Given the description of an element on the screen output the (x, y) to click on. 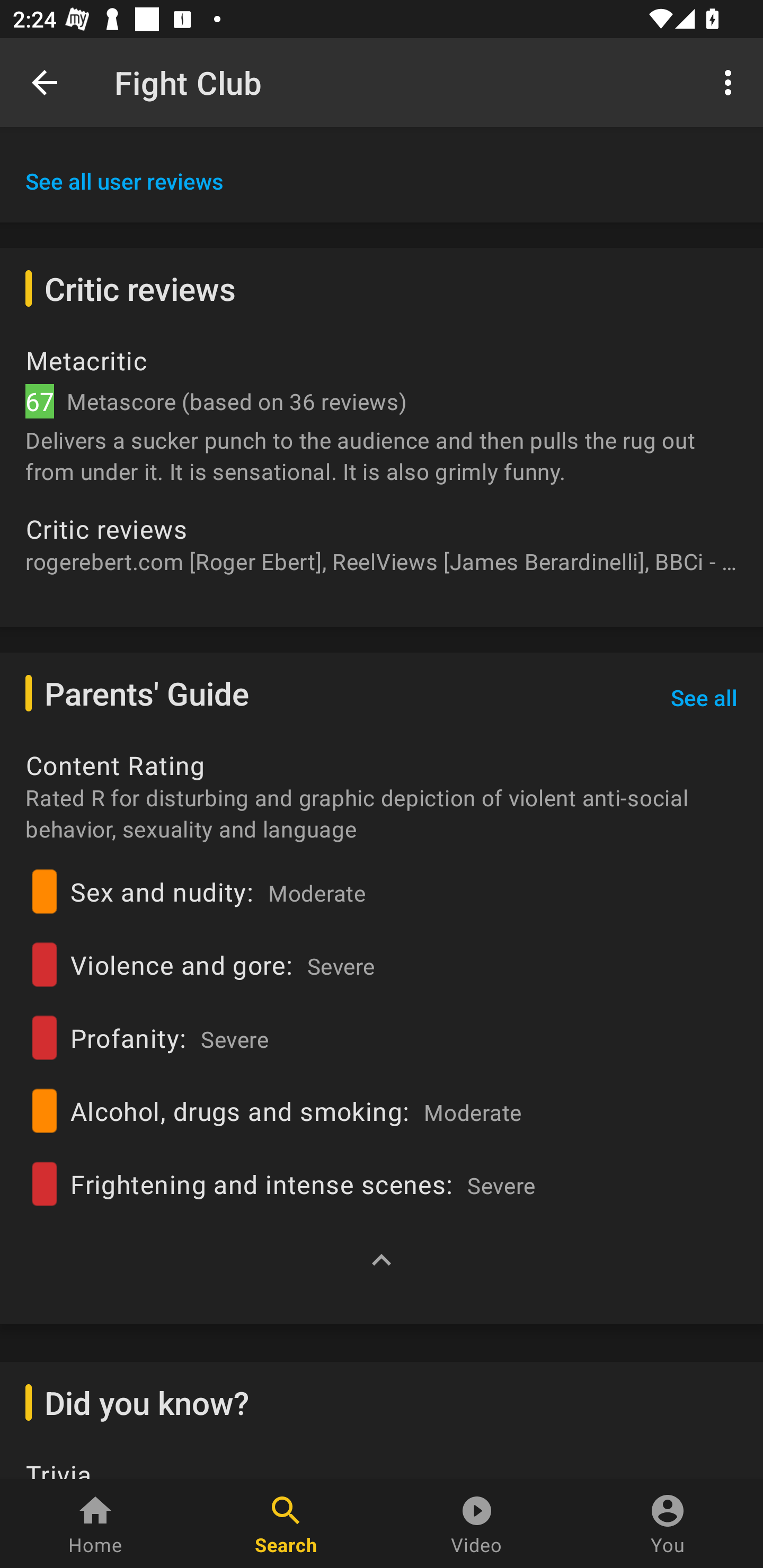
More options (731, 81)
See all user reviews (124, 181)
See all See all  (703, 697)
Home (95, 1523)
Video (476, 1523)
You (667, 1523)
